Given the description of an element on the screen output the (x, y) to click on. 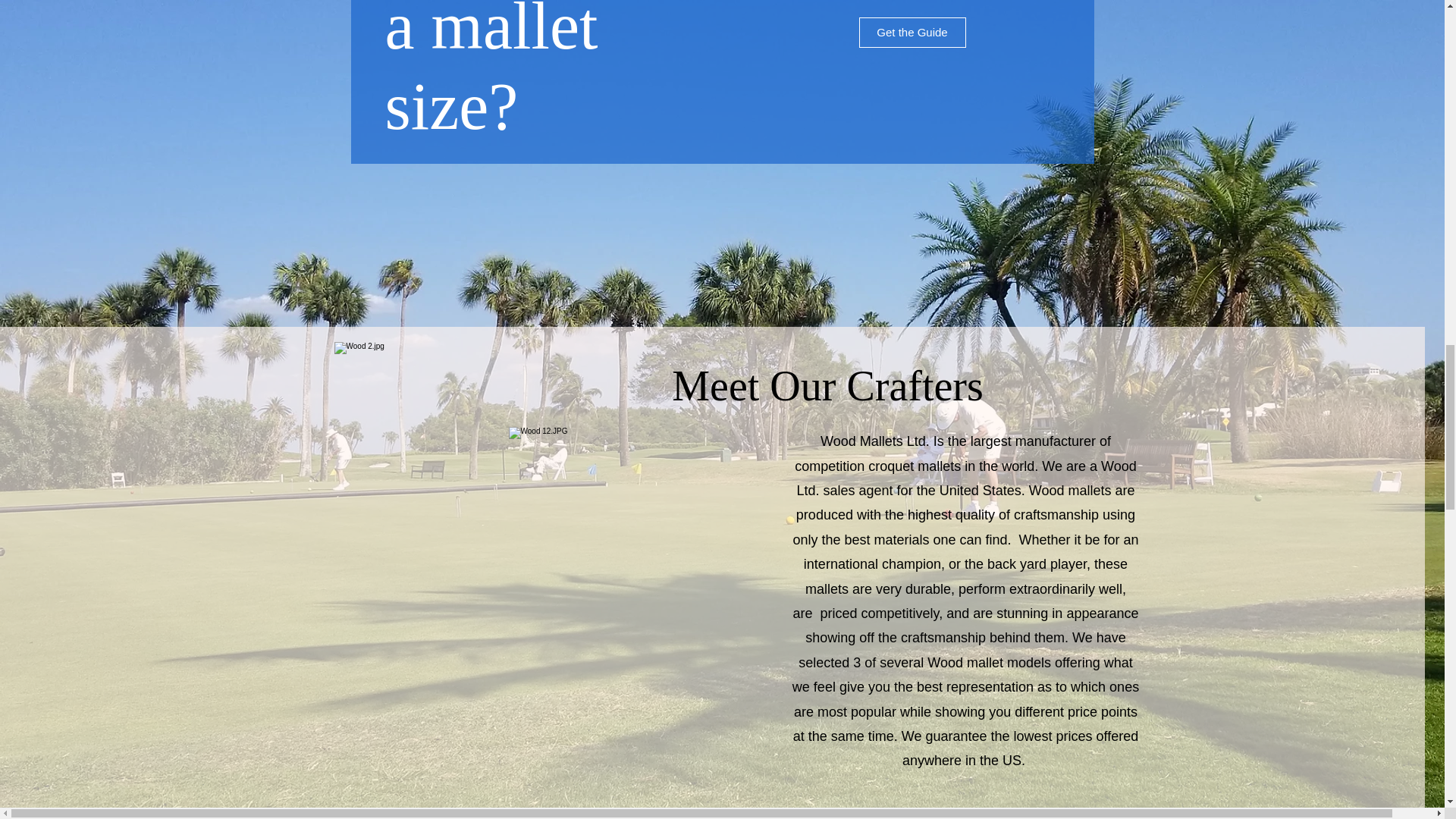
Get the Guide (912, 32)
